Given the description of an element on the screen output the (x, y) to click on. 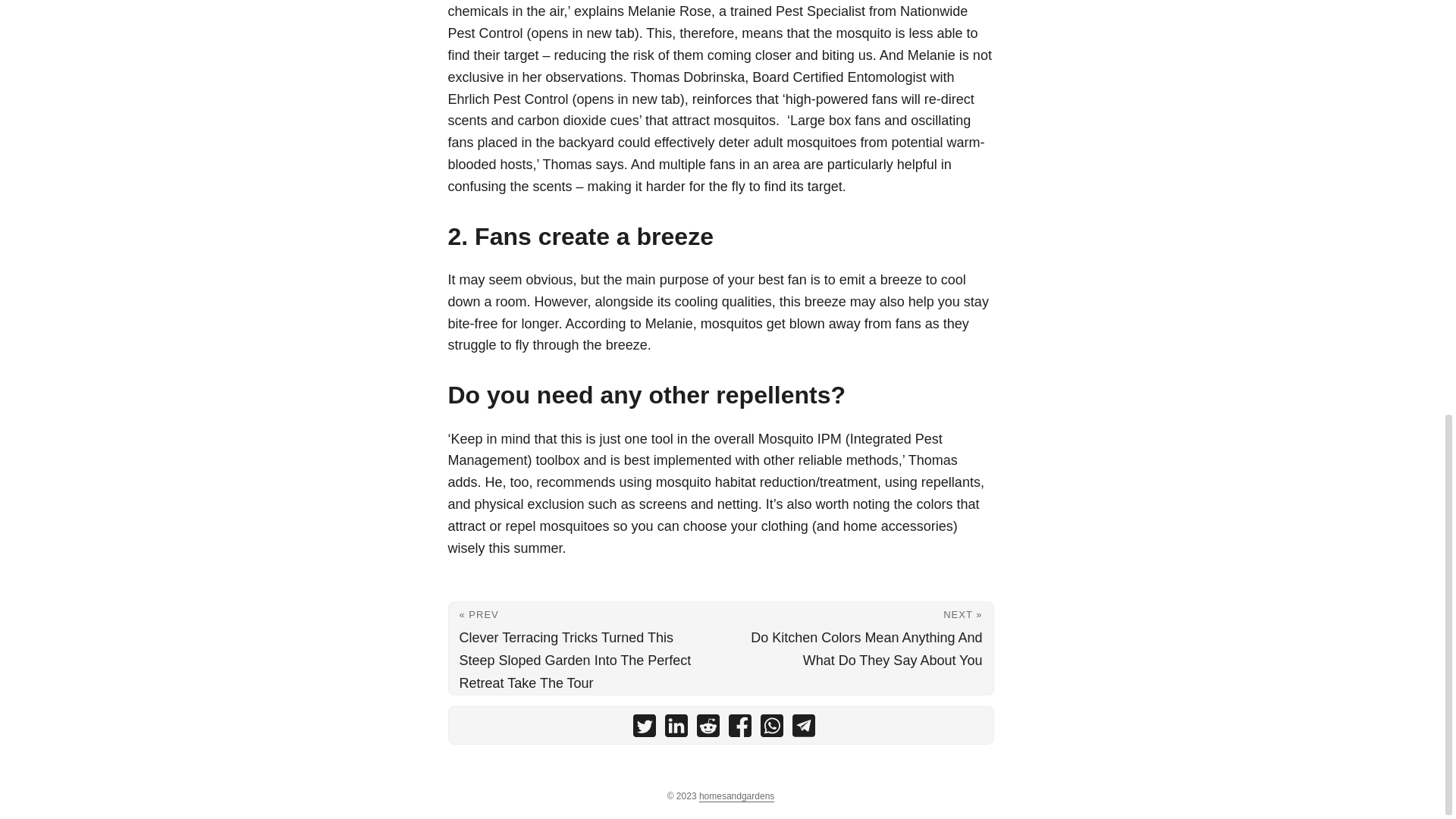
homesandgardens (736, 796)
